Given the description of an element on the screen output the (x, y) to click on. 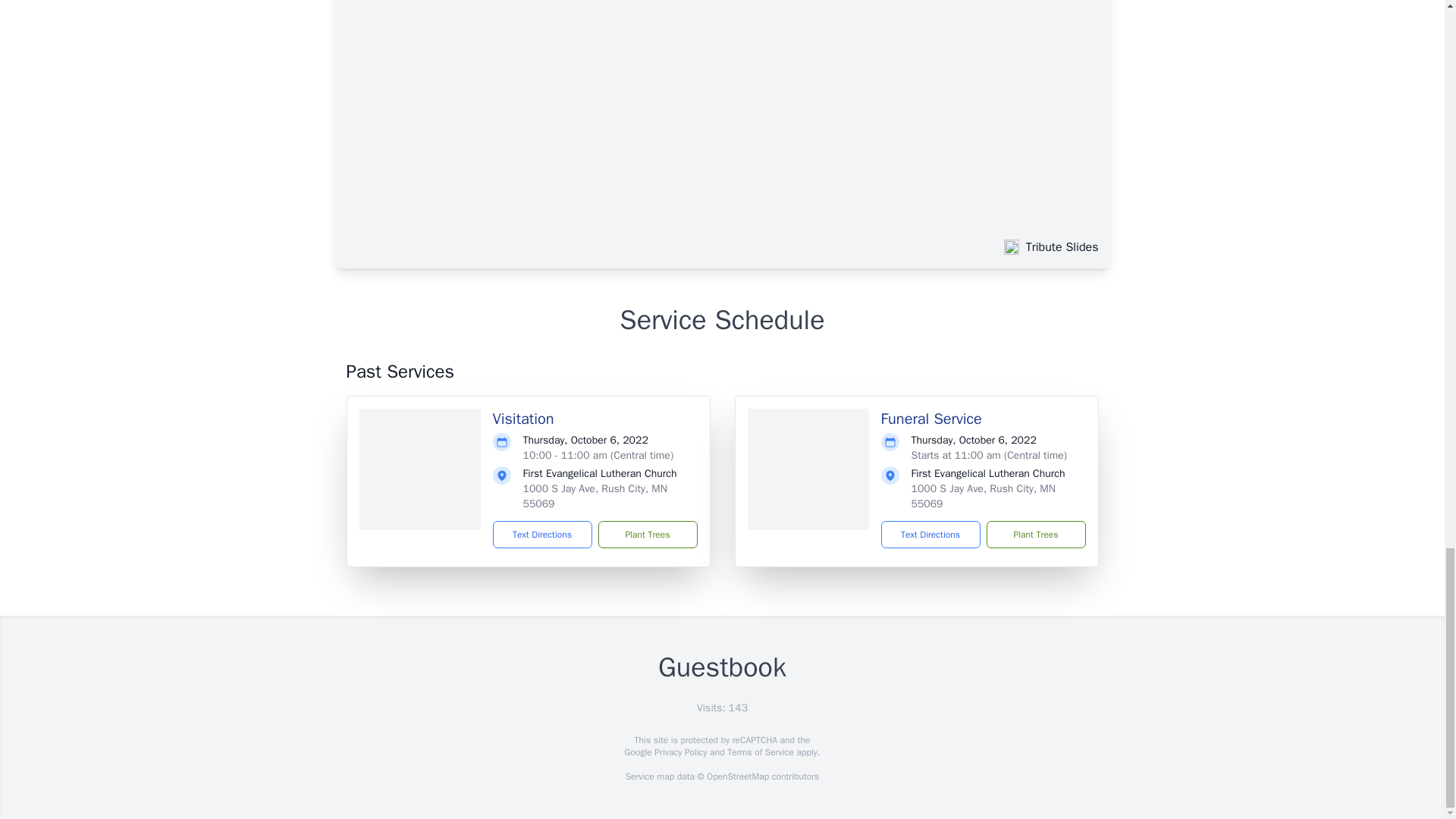
Plant Trees (1034, 533)
Privacy Policy (679, 752)
1000 S Jay Ave, Rush City, MN 55069 (594, 496)
1000 S Jay Ave, Rush City, MN 55069 (983, 496)
OpenStreetMap (737, 776)
Text Directions (929, 533)
Text Directions (542, 533)
Plant Trees (646, 533)
Terms of Service (759, 752)
